Given the description of an element on the screen output the (x, y) to click on. 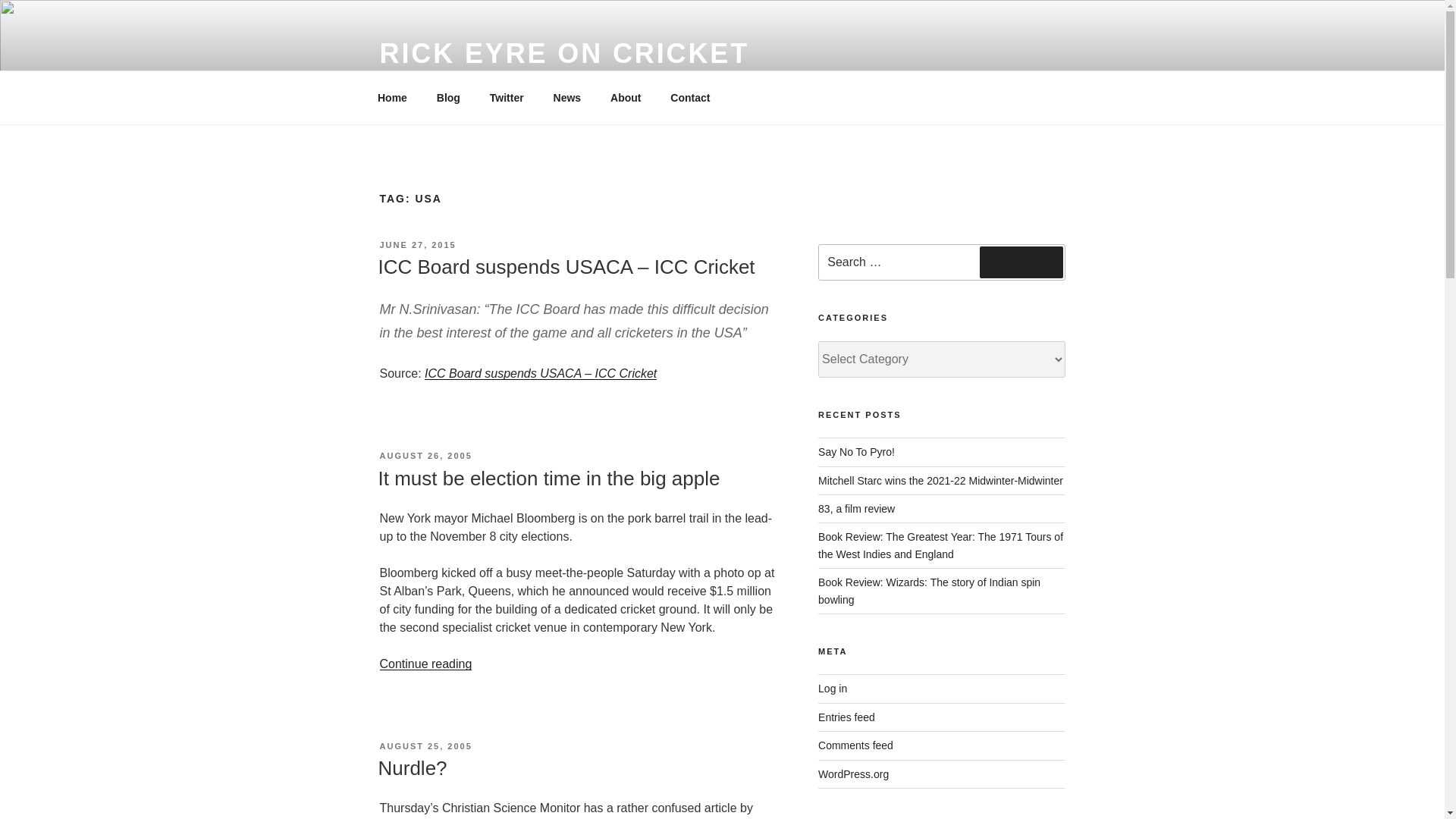
AUGUST 25, 2005 (424, 746)
Twitter (506, 97)
RICK EYRE ON CRICKET (563, 52)
AUGUST 26, 2005 (424, 455)
83, a film review (856, 508)
Contact (690, 97)
Search (1020, 262)
Say No To Pyro! (856, 451)
Home (392, 97)
About (624, 97)
Mitchell Starc wins the 2021-22 Midwinter-Midwinter (940, 480)
Blog (448, 97)
JUNE 27, 2015 (416, 244)
It must be election time in the big apple (548, 477)
Nurdle? (411, 767)
